Given the description of an element on the screen output the (x, y) to click on. 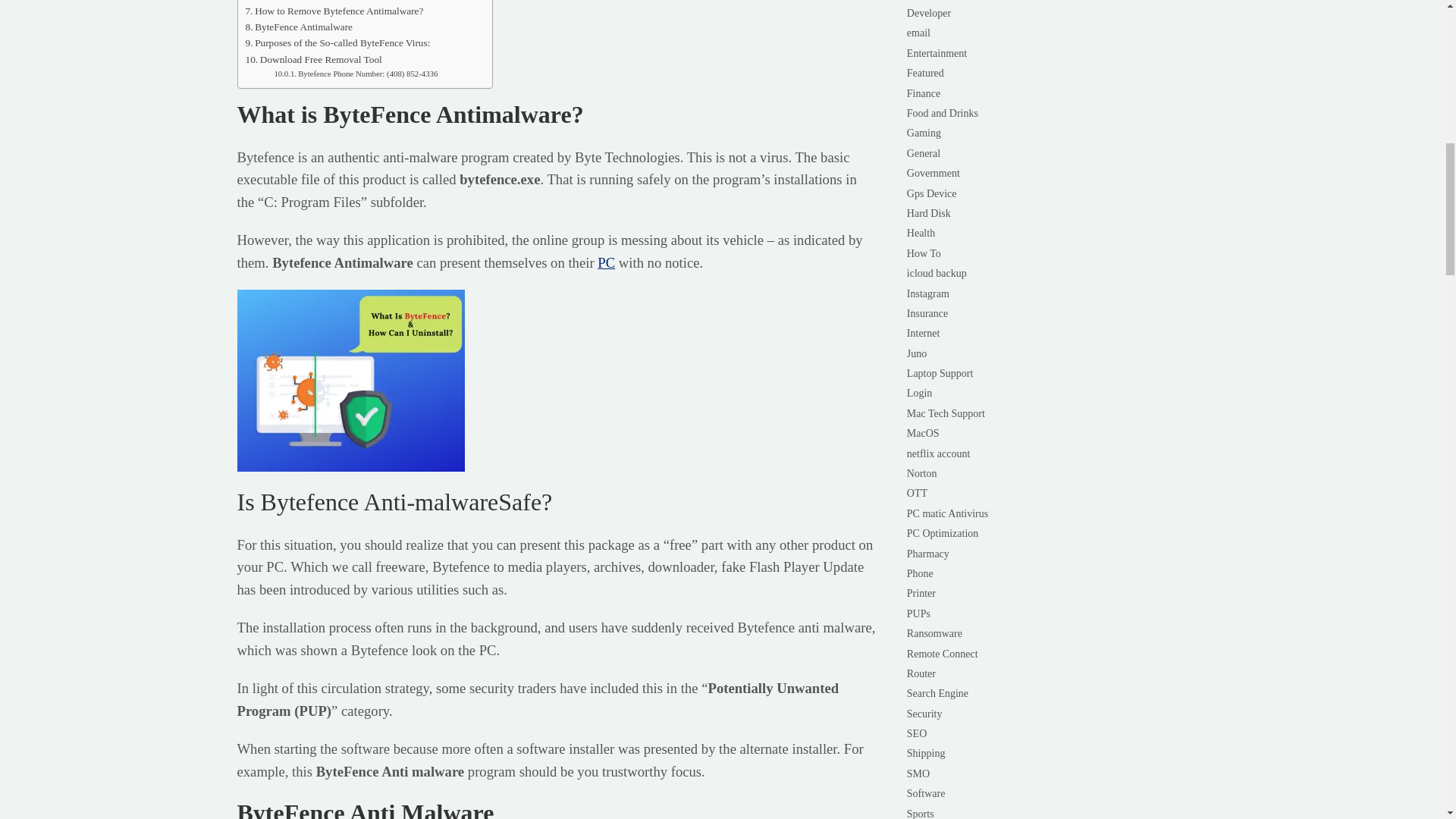
How to Remove Bytefence Antimalware? (334, 10)
Download Free Removal Tool (313, 59)
ByteFence Anti Malware Removal (321, 1)
ByteFence Anti Malware Removal (321, 1)
Download Free Removal Tool (313, 59)
How to Remove Bytefence Antimalware? (334, 10)
ByteFence Antimalware (299, 26)
PC (605, 262)
Purposes of the So-called ByteFence Virus: (338, 42)
Purposes of the So-called ByteFence Virus: (338, 42)
